Given the description of an element on the screen output the (x, y) to click on. 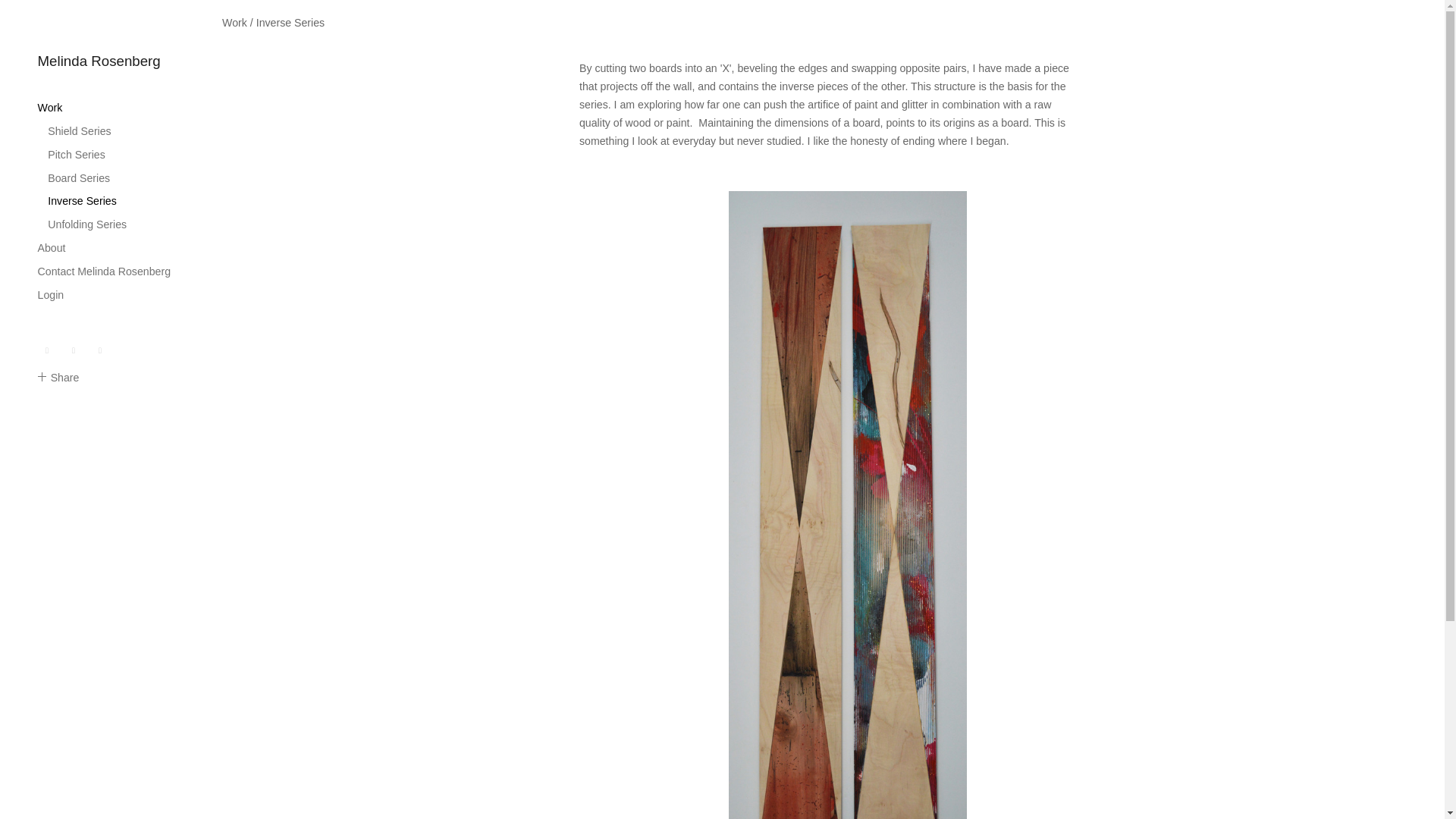
Share (58, 377)
Shield Series (79, 131)
Work (49, 107)
Work (234, 22)
Unfolding Series (87, 224)
About (51, 247)
Melinda Rosenberg (98, 61)
Pitch Series (76, 154)
Contact Melinda Rosenberg (103, 271)
Board Series (79, 177)
Login (50, 295)
Inverse Series (82, 200)
